Given the description of an element on the screen output the (x, y) to click on. 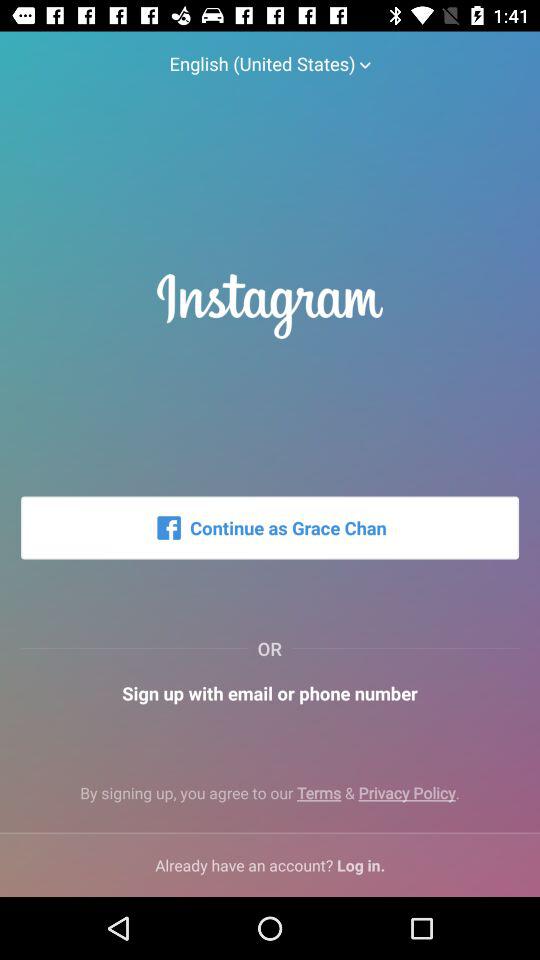
jump to by signing up (269, 800)
